Given the description of an element on the screen output the (x, y) to click on. 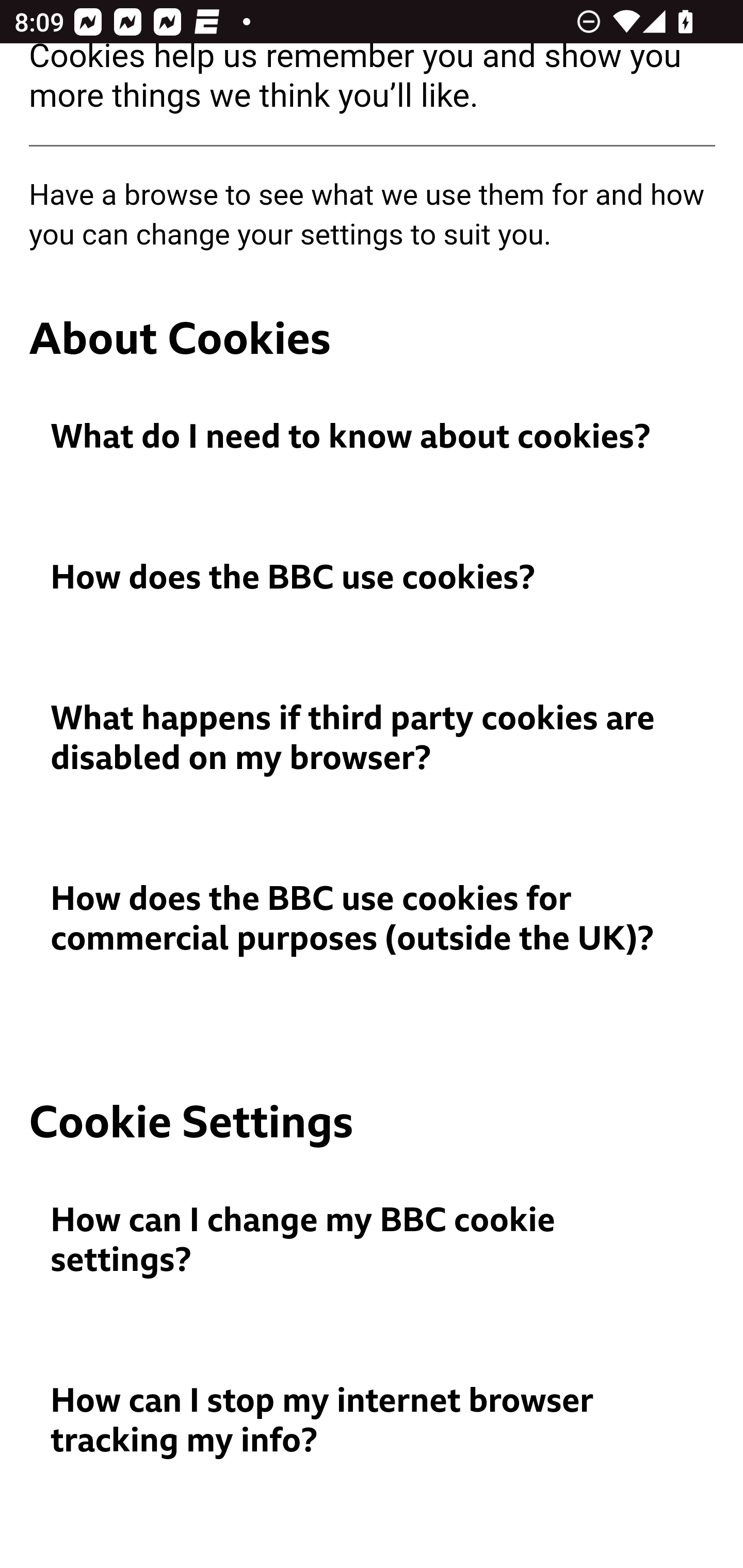
What do I need to know about cookies? (372, 438)
How does the BBC use cookies? (372, 579)
How can I change my BBC cookie settings? (372, 1240)
